Given the description of an element on the screen output the (x, y) to click on. 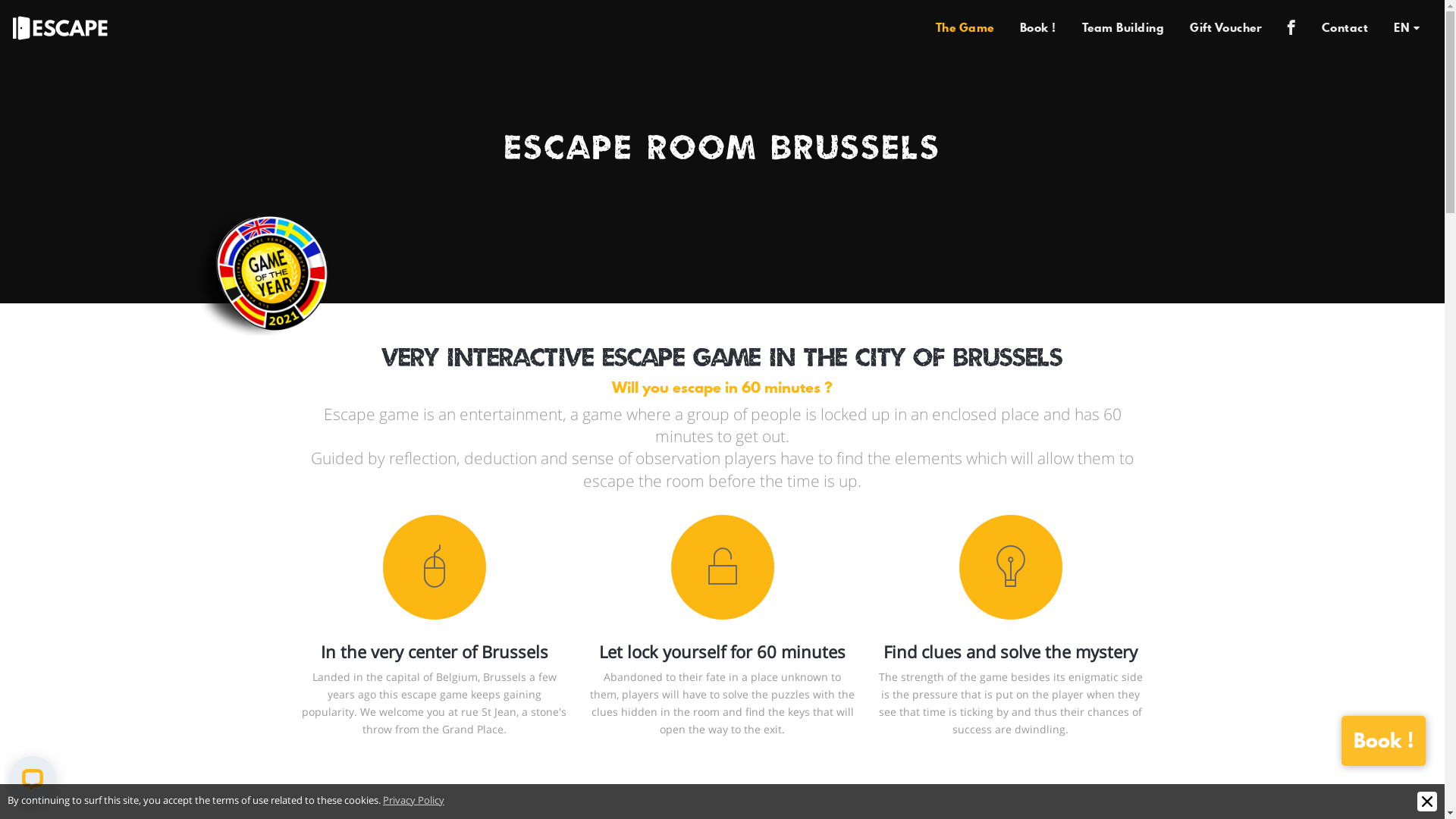
Contact Element type: text (1345, 27)
Gift Voucher Element type: text (1225, 27)
Book ! Element type: text (1037, 27)
LiveChat chat widget Element type: hover (35, 781)
Privacy Policy Element type: text (413, 799)
Team Building Element type: text (1123, 27)
Escape Element type: hover (60, 26)
Book ! Element type: text (1383, 740)
